Given the description of an element on the screen output the (x, y) to click on. 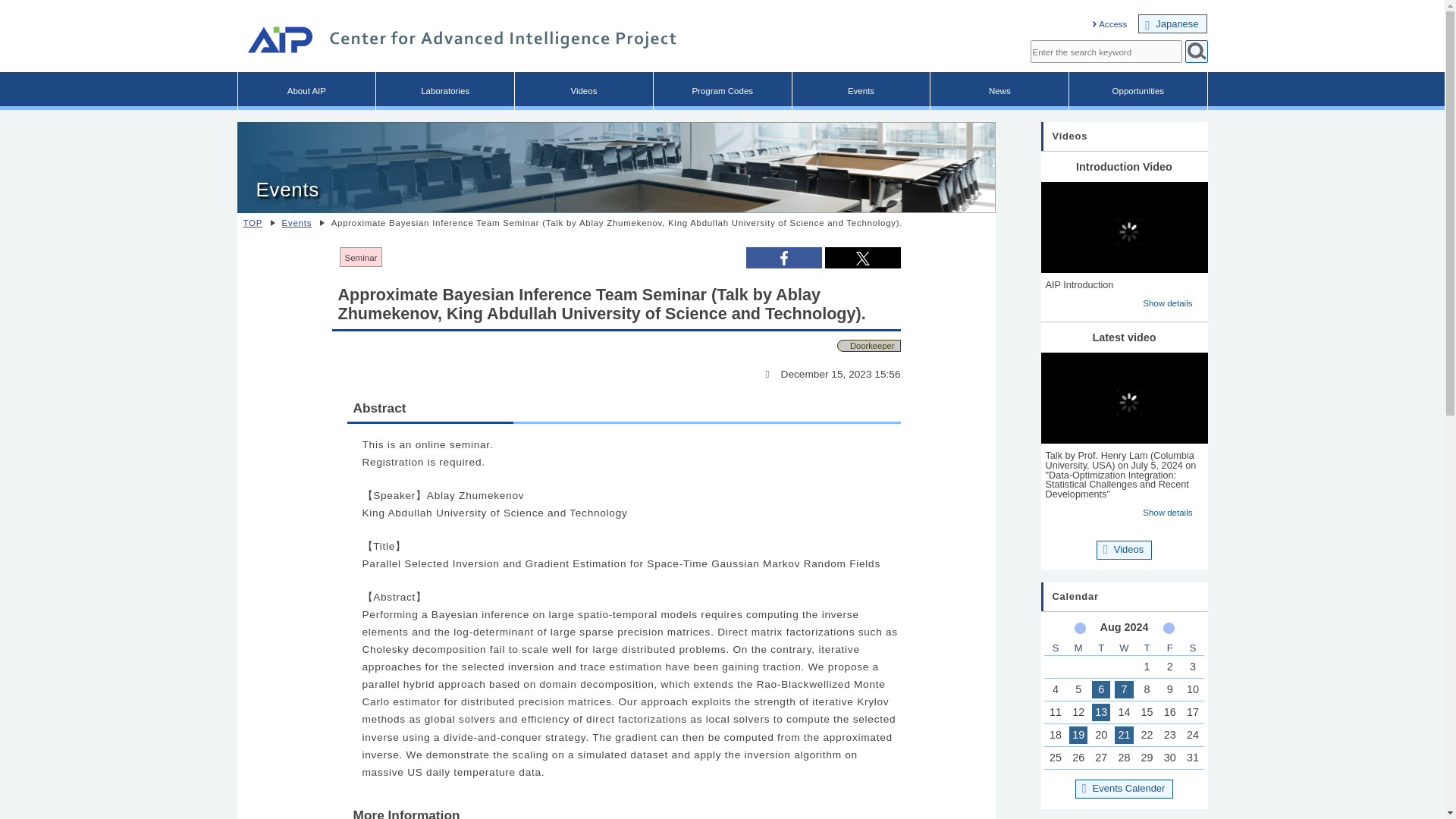
Events (861, 90)
Videos (1123, 549)
Perform a search (1196, 51)
Seminar (360, 257)
Center for Advanced Intelligence Project (456, 41)
Japanese (1172, 23)
Opportunities (1137, 90)
6 (1100, 689)
Videos (583, 90)
Events (299, 222)
